Given the description of an element on the screen output the (x, y) to click on. 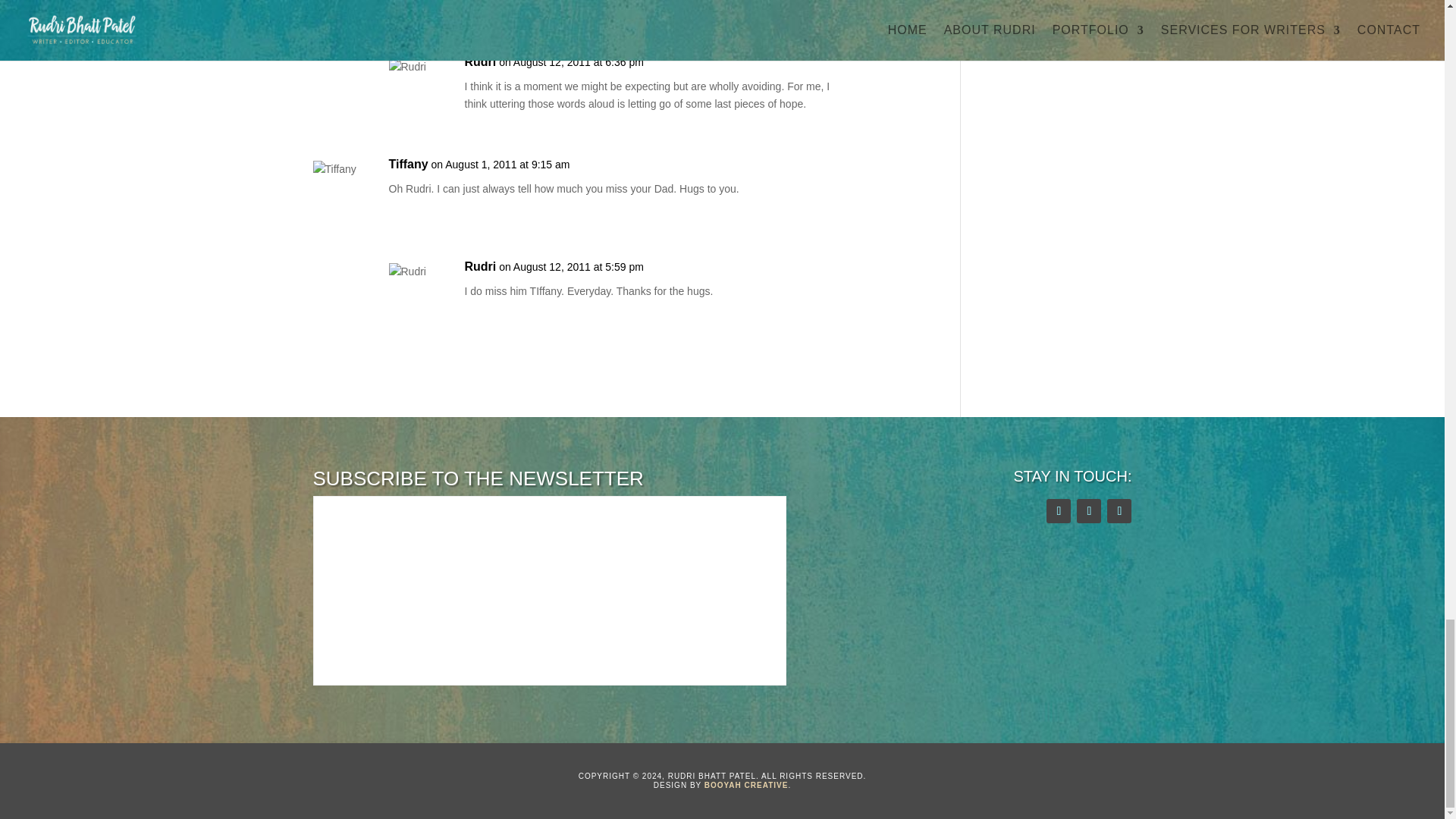
Follow on LinkedIn (1118, 510)
Follow on X (1058, 510)
Follow on Facebook (1088, 510)
Tiffany (408, 164)
